Given the description of an element on the screen output the (x, y) to click on. 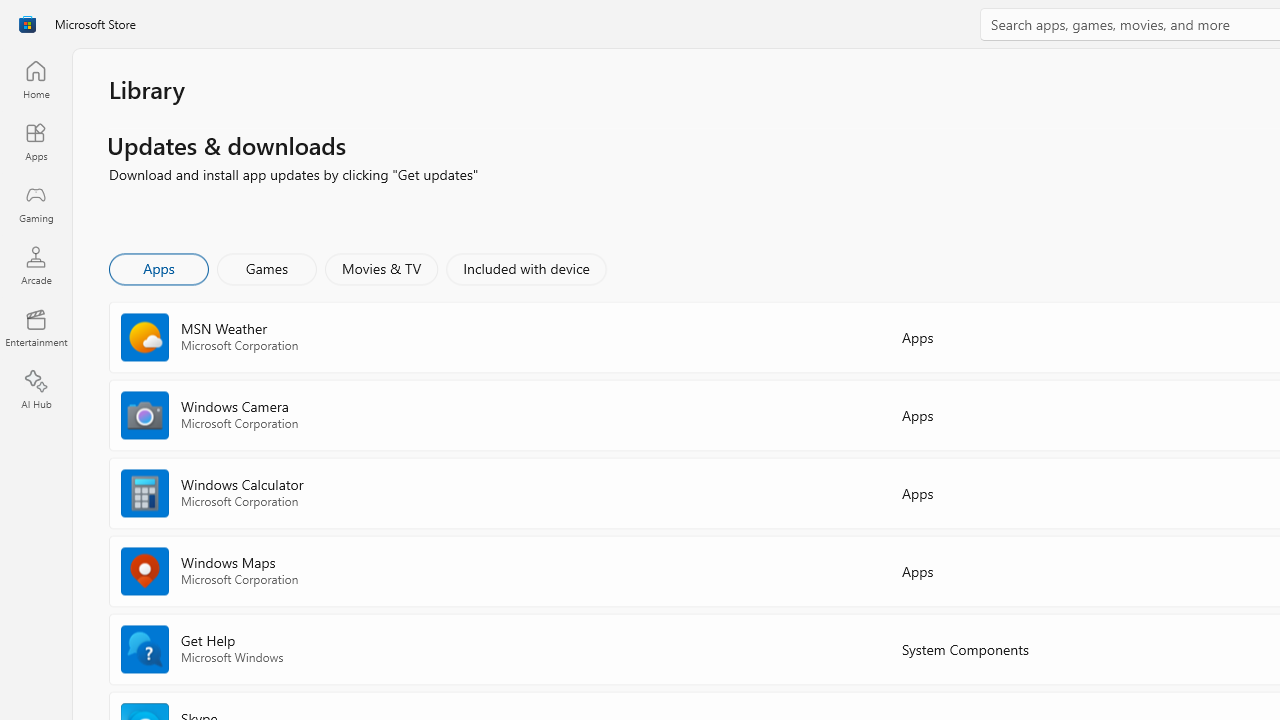
Games (267, 268)
Movies & TV (381, 268)
Included with device (525, 268)
